Given the description of an element on the screen output the (x, y) to click on. 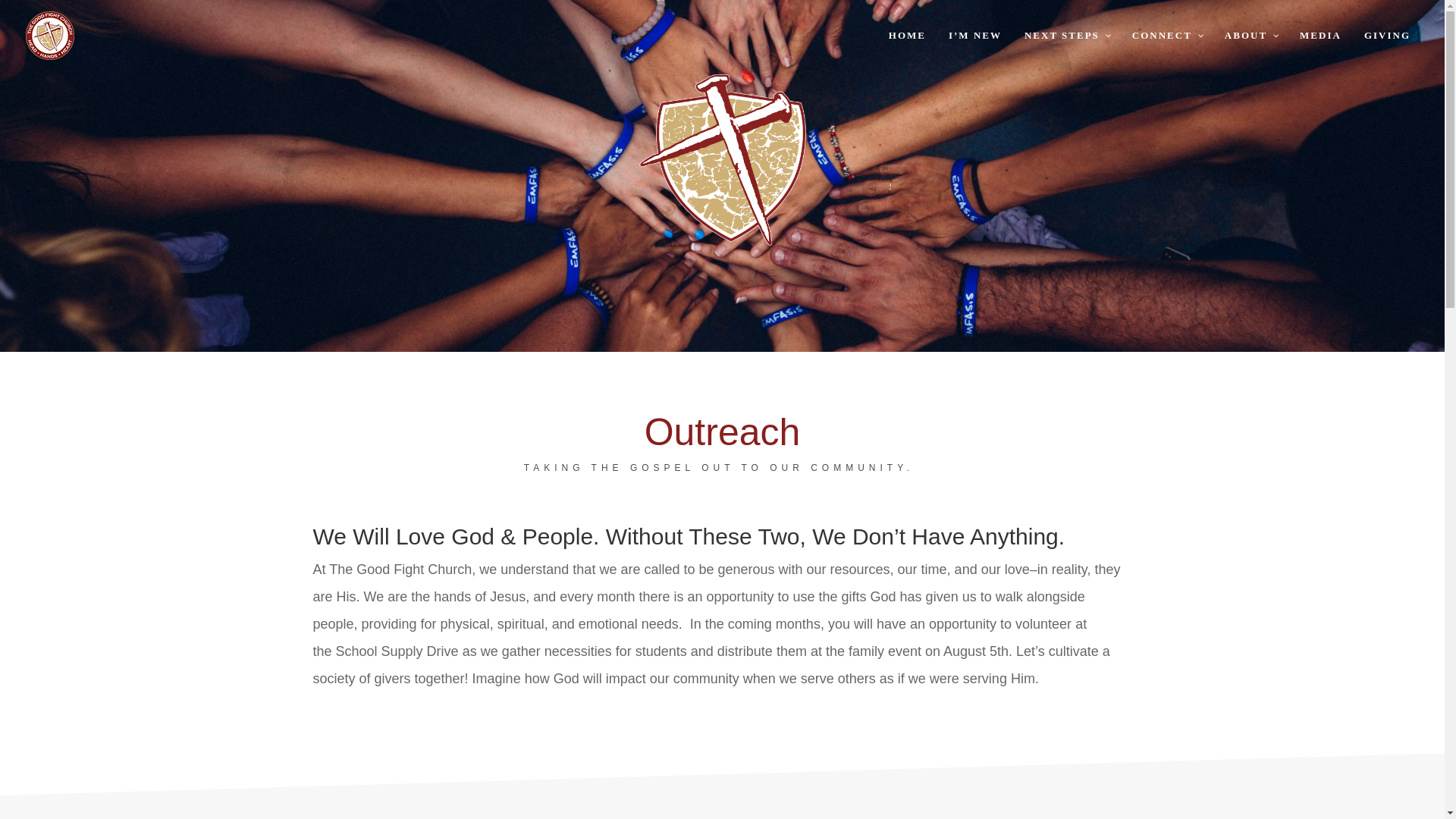
MEDIA (1320, 50)
ABOUT (1250, 50)
CONNECT (1166, 50)
GIVING (1387, 50)
NEXT STEPS (1067, 50)
HOME (907, 50)
